Given the description of an element on the screen output the (x, y) to click on. 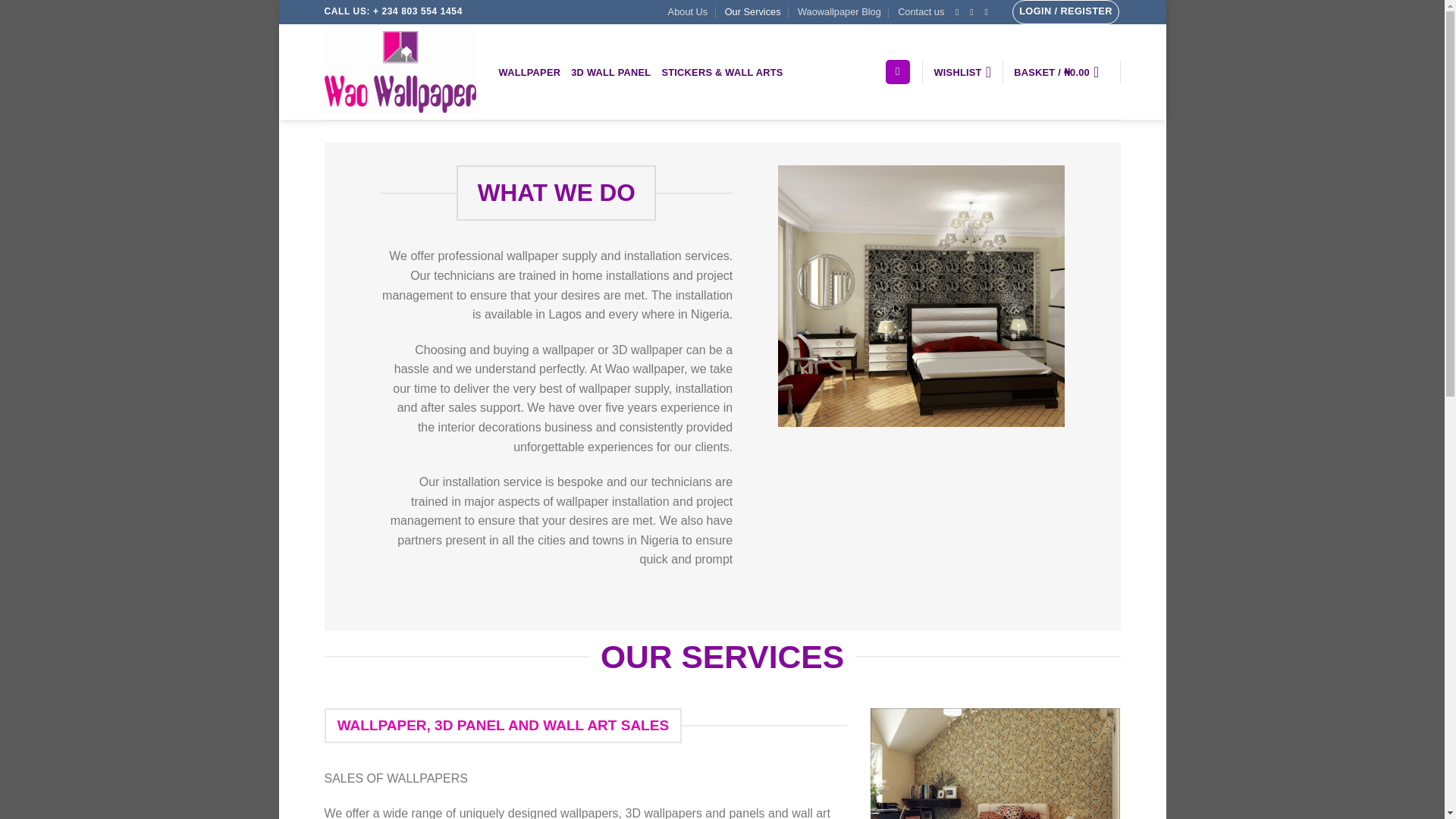
About Us (687, 11)
3D WALL PANEL (610, 72)
Our Services (752, 11)
WALLPAPER (529, 72)
Waowallpaper Blog (838, 11)
